Given the description of an element on the screen output the (x, y) to click on. 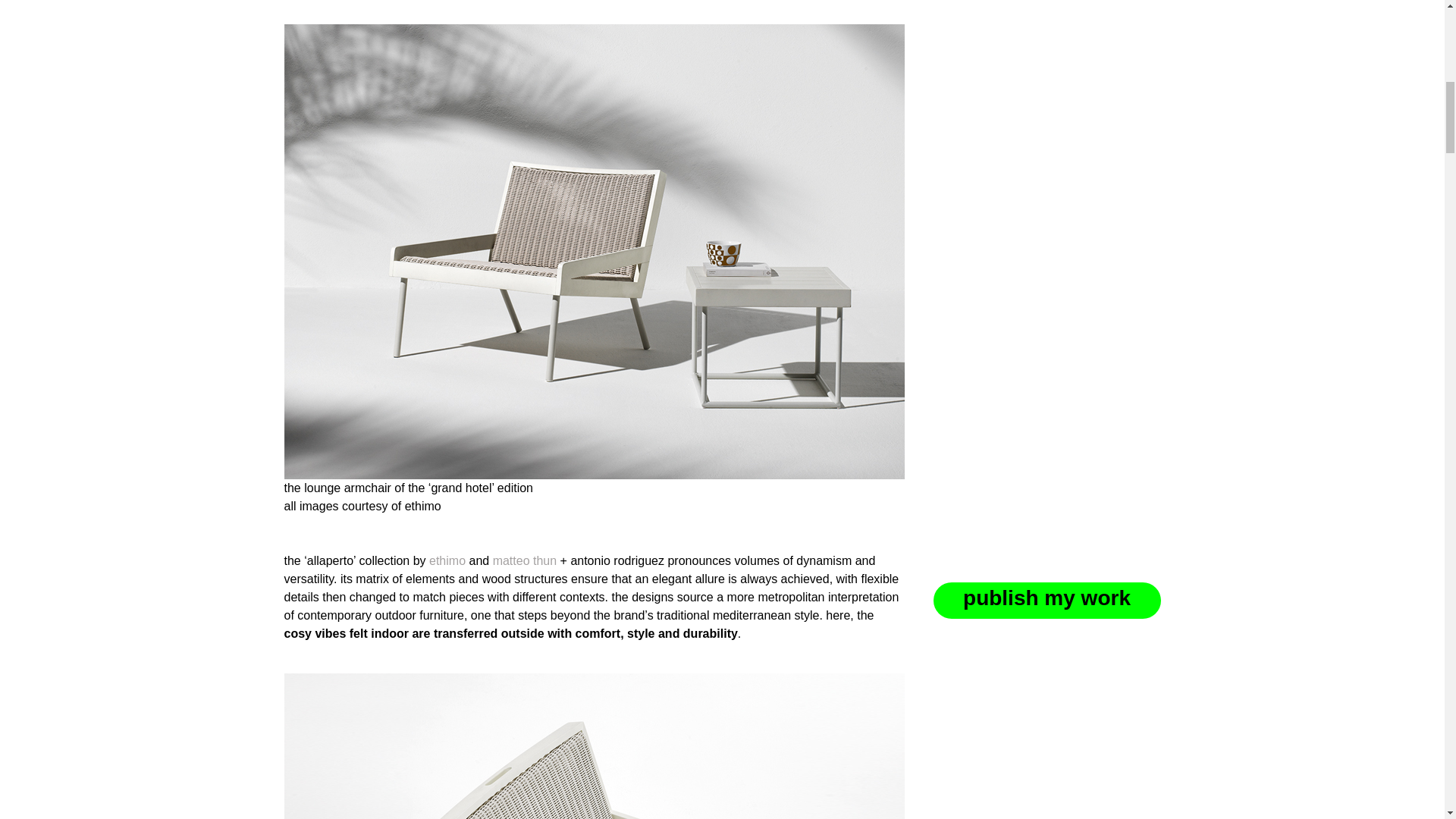
publish my work (1046, 466)
